Given the description of an element on the screen output the (x, y) to click on. 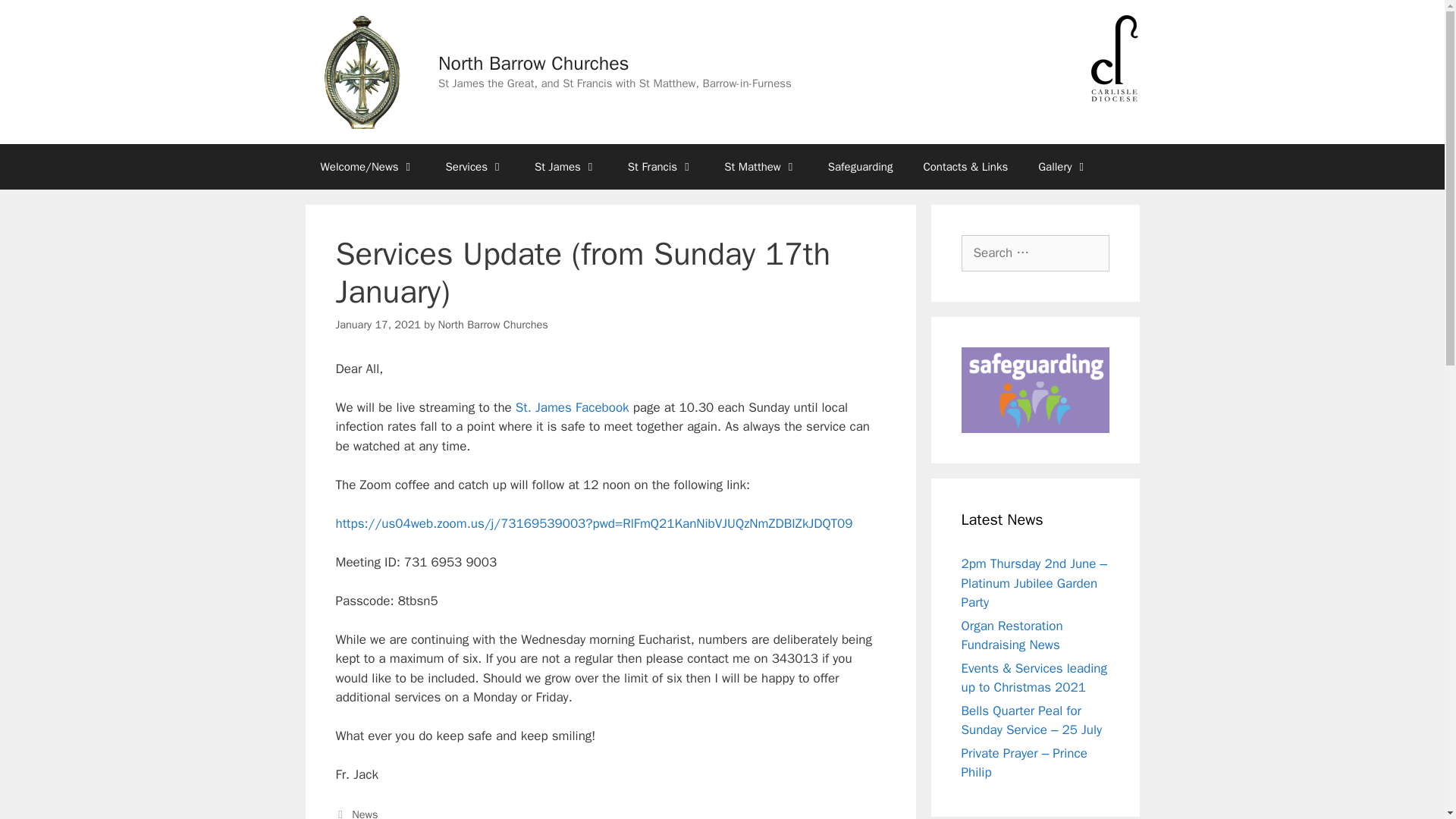
View all posts by North Barrow Churches (493, 324)
St Francis (660, 166)
St Matthew (760, 166)
Search for: (1034, 253)
Safeguarding (860, 166)
St James (565, 166)
Services (474, 166)
North Barrow Churches (533, 63)
